Given the description of an element on the screen output the (x, y) to click on. 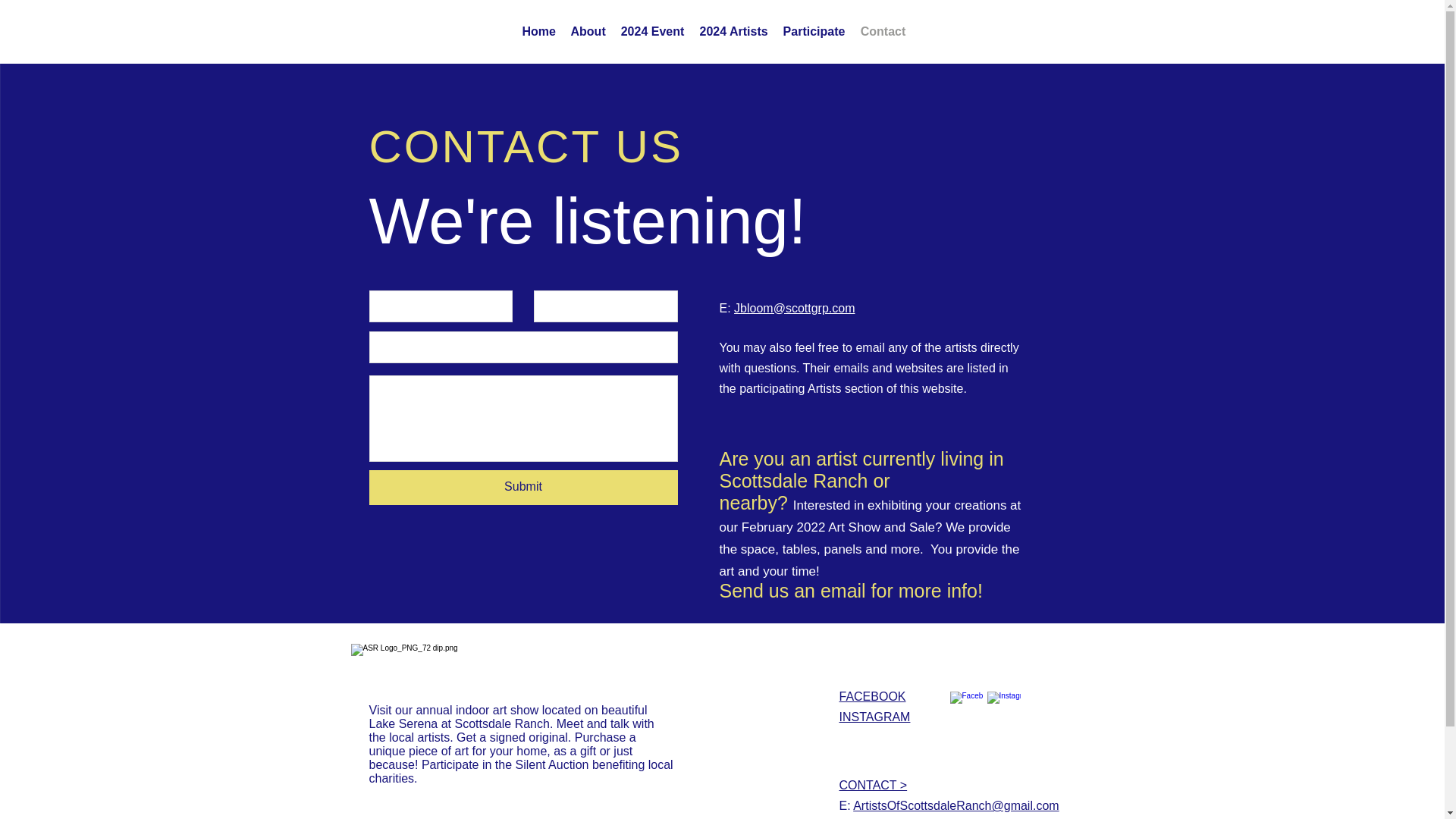
Home (537, 31)
Contact (881, 31)
2024 Event (651, 31)
Participate (812, 31)
About (587, 31)
2024 Artists (732, 31)
FACEBOOK (871, 696)
INSTAGRAM (874, 716)
Submit (522, 487)
